Given the description of an element on the screen output the (x, y) to click on. 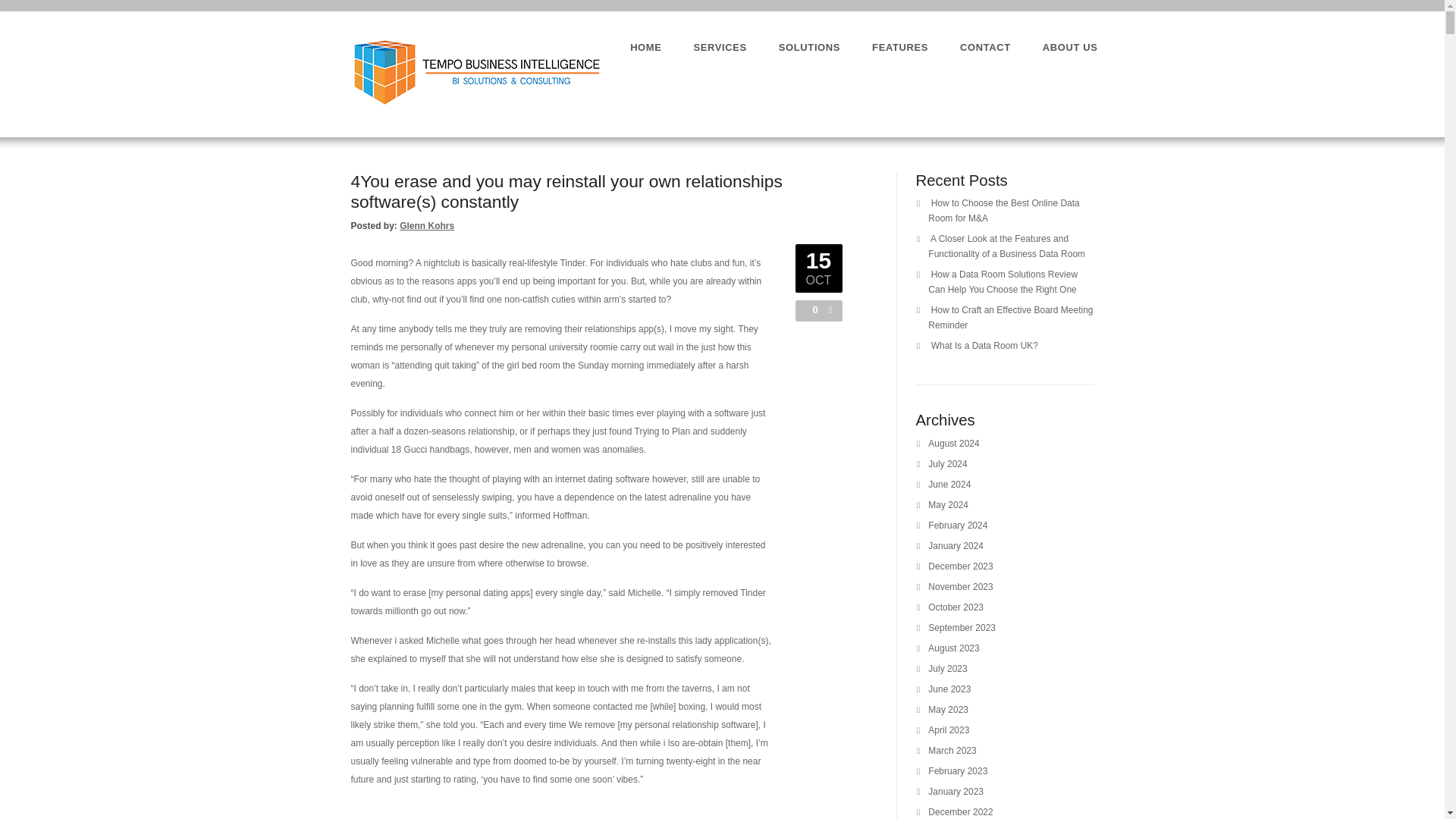
ABOUT US (1069, 47)
0 (811, 309)
CONTACT (984, 47)
Glenn Kohrs (426, 225)
Posts by Glenn Kohrs (426, 225)
How to Craft an Effective Board Meeting Reminder (1010, 317)
SOLUTIONS (809, 47)
HOME (645, 47)
FEATURES (900, 47)
